Given the description of an element on the screen output the (x, y) to click on. 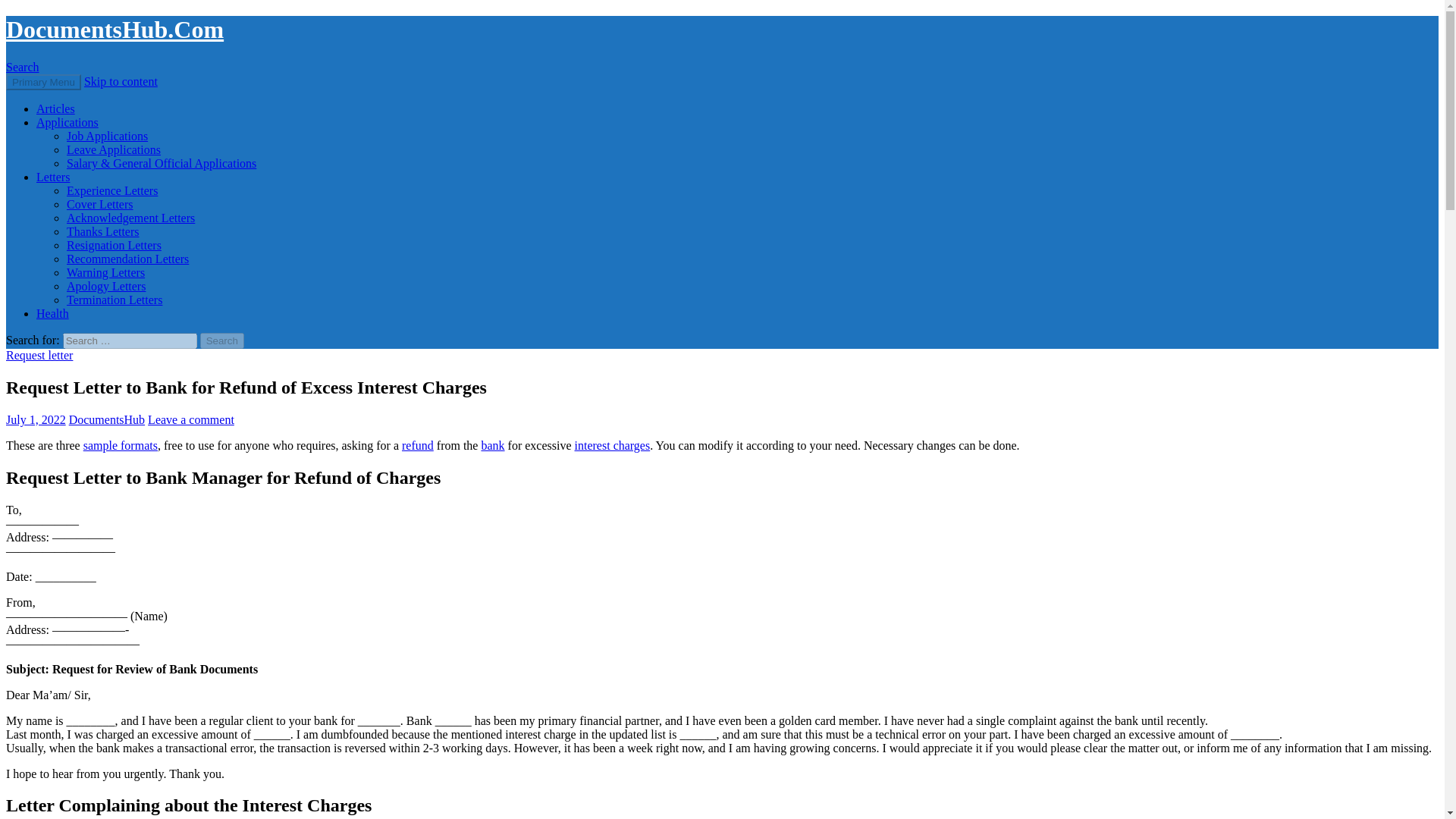
July 1, 2022 (35, 419)
Leave Applications (113, 149)
Cover Letters (99, 204)
Job Applications (107, 135)
Letters (52, 176)
Recommendation Letters (127, 258)
Request letter (38, 354)
Applications (67, 122)
bank (491, 445)
Thanks Letters (102, 231)
